Given the description of an element on the screen output the (x, y) to click on. 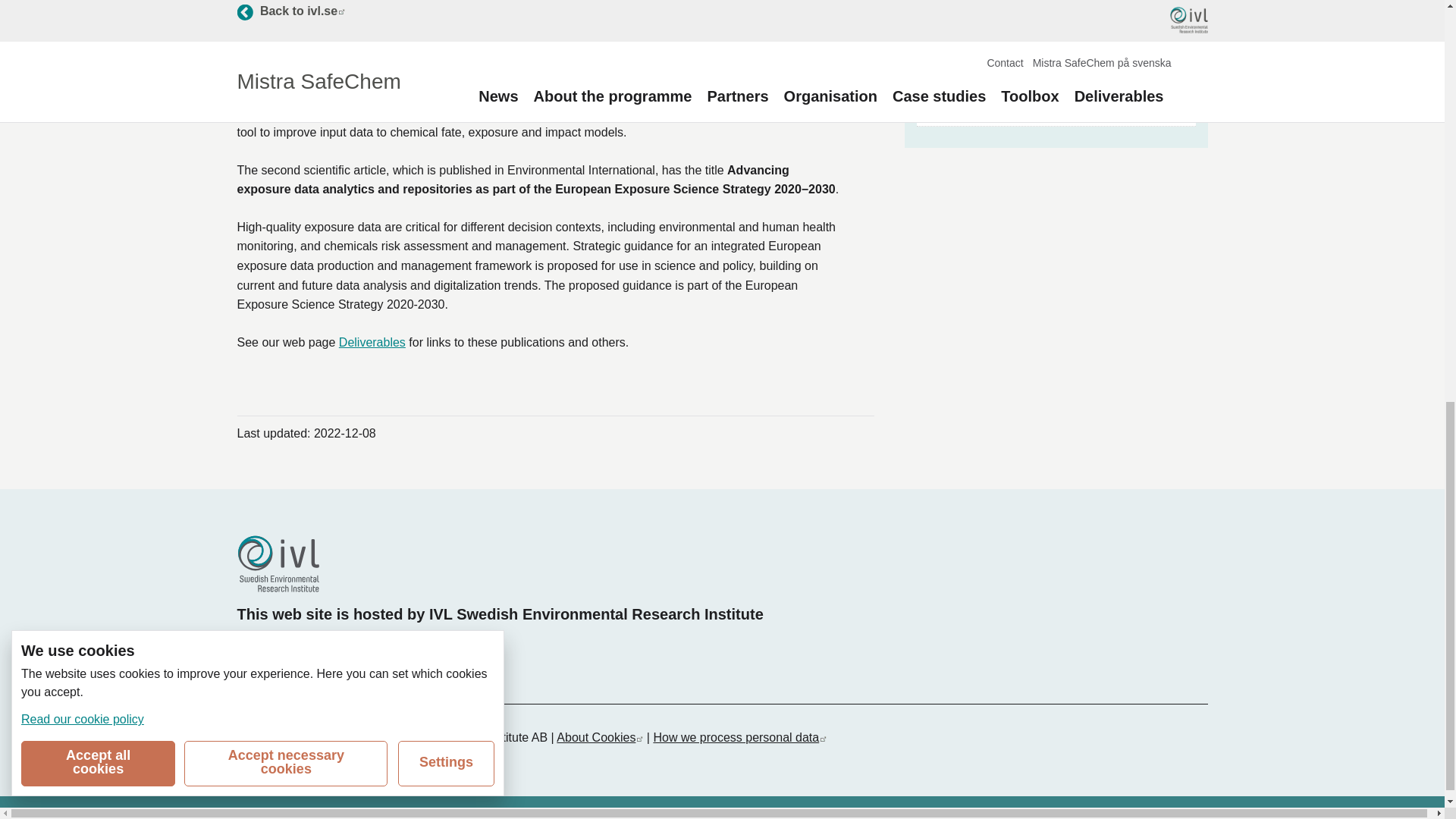
Deliverables (266, 644)
